Given the description of an element on the screen output the (x, y) to click on. 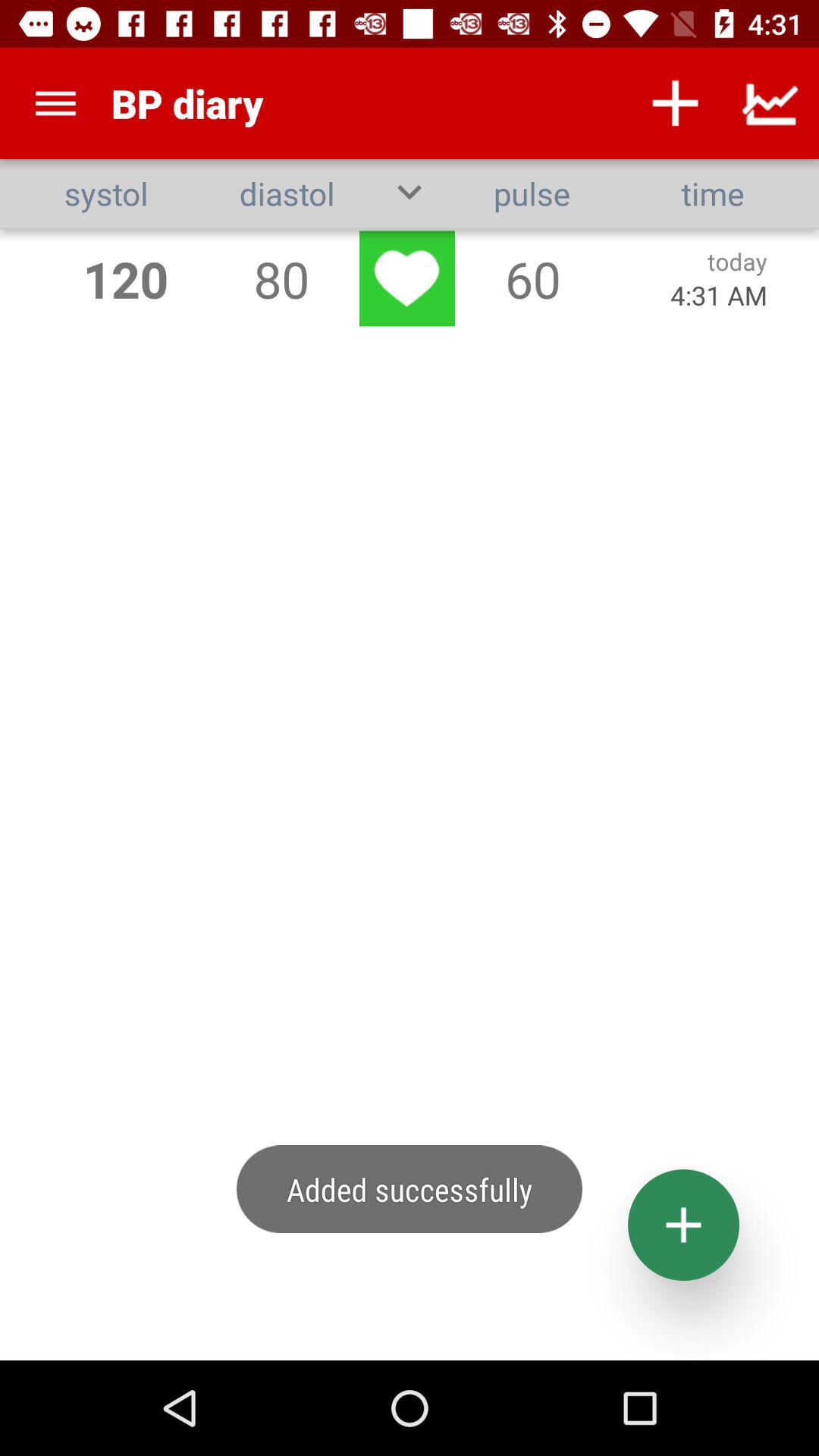
launch item to the left of bp diary app (55, 103)
